Given the description of an element on the screen output the (x, y) to click on. 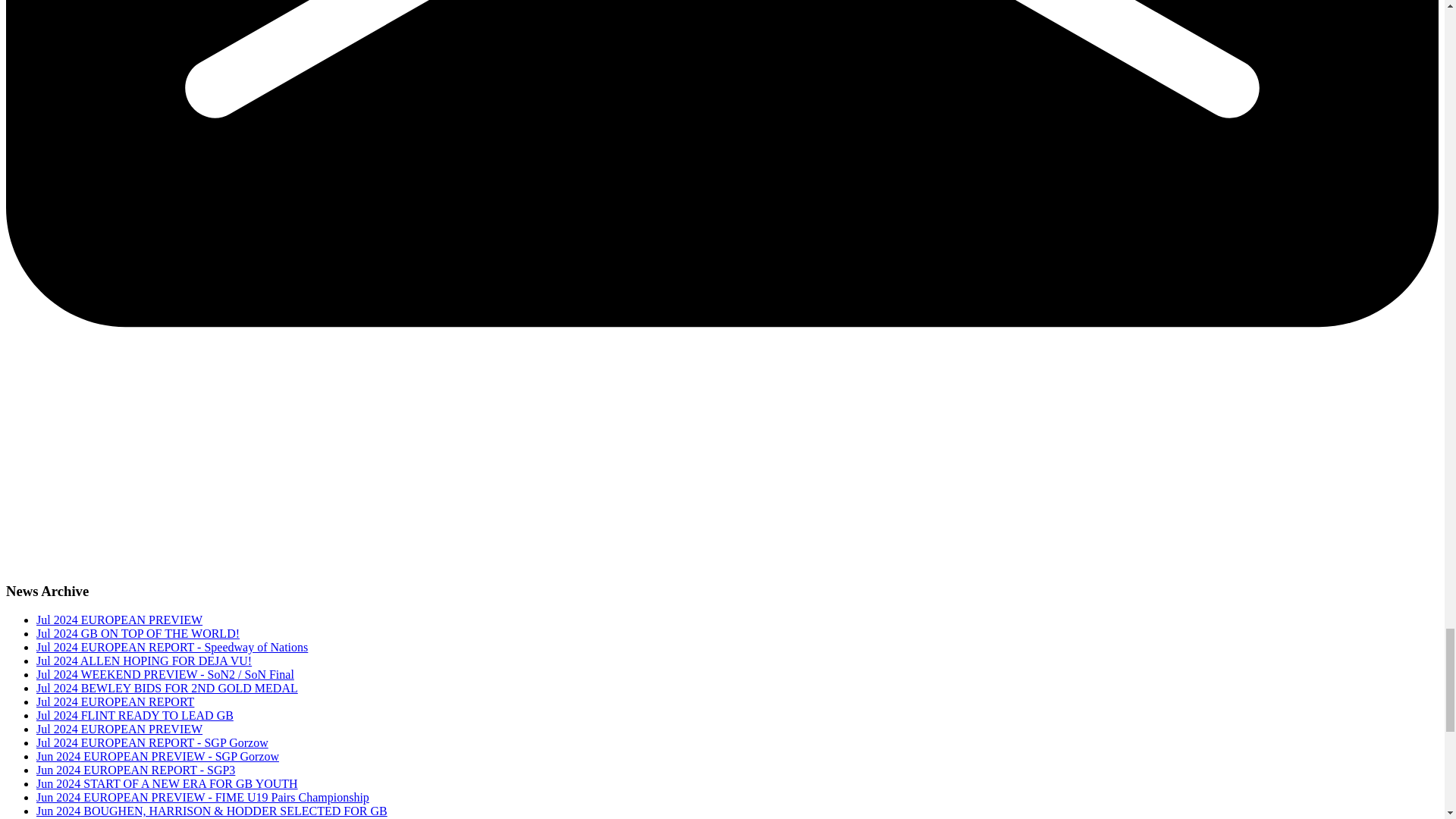
Jul 2024 BEWLEY BIDS FOR 2ND GOLD MEDAL (167, 687)
Jul 2024 EUROPEAN PREVIEW (119, 728)
Jul 2024 EUROPEAN REPORT - Speedway of Nations (171, 646)
Jun 2024 EUROPEAN PREVIEW - SGP Gorzow (157, 756)
Jun 2024 EUROPEAN REPORT - SGP3 (135, 769)
Jun 2024 EUROPEAN PREVIEW - FIME U19 Pairs Championship (202, 797)
Jul 2024 ALLEN HOPING FOR DEJA VU! (143, 660)
Jul 2024 EUROPEAN REPORT - SGP Gorzow (151, 742)
Jun 2024 START OF A NEW ERA FOR GB YOUTH (167, 783)
Jul 2024 FLINT READY TO LEAD GB (134, 715)
Jul 2024 EUROPEAN REPORT (114, 701)
Jul 2024 GB ON TOP OF THE WORLD! (138, 633)
Jul 2024 EUROPEAN PREVIEW (119, 619)
